Given the description of an element on the screen output the (x, y) to click on. 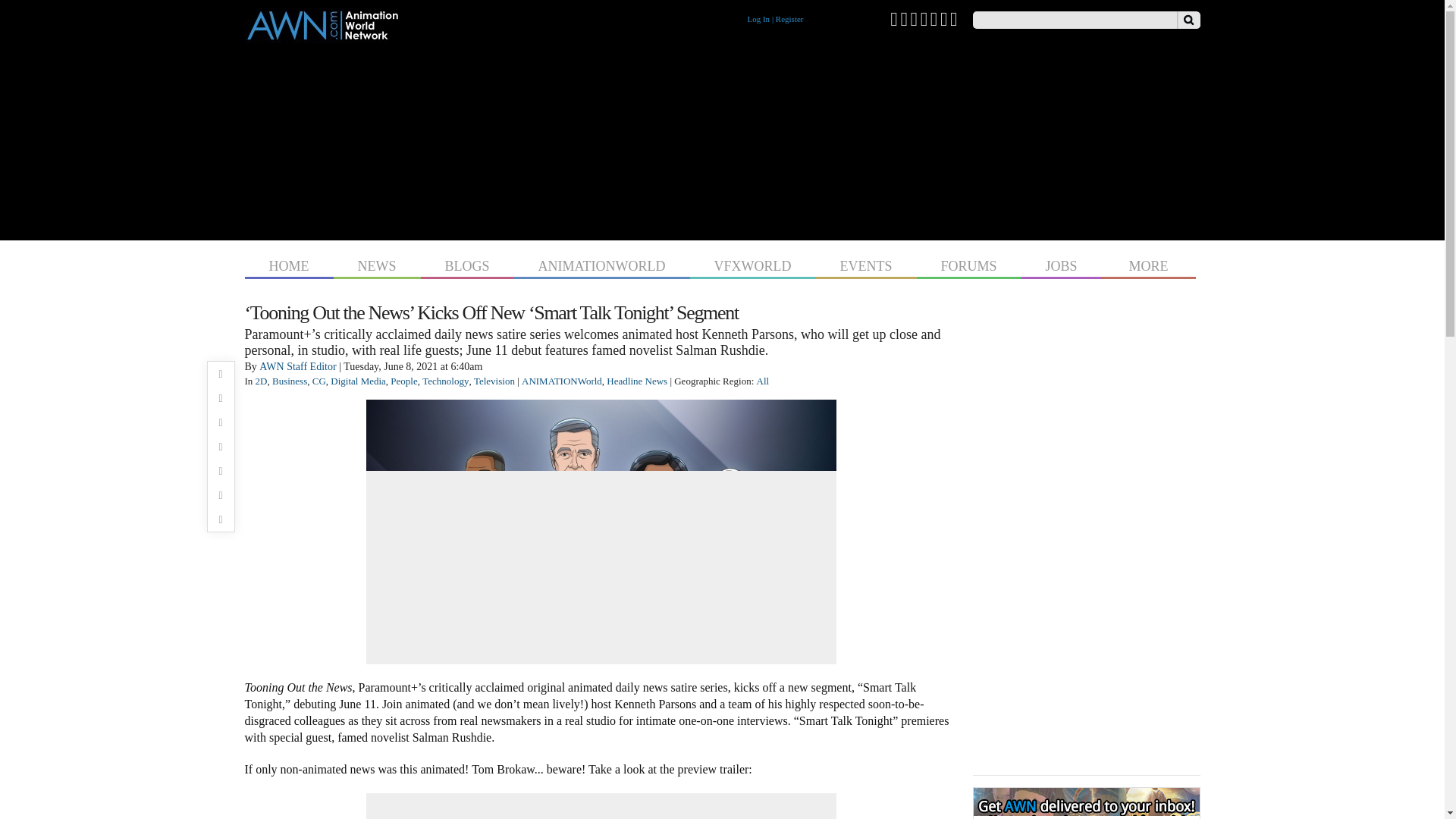
Technology (445, 380)
Log In (758, 18)
CG (319, 380)
JOBS (1062, 263)
Business (289, 380)
Animation World Network (321, 35)
Digital Media (357, 380)
NEWS (376, 263)
FORUMS (967, 263)
BLOGS (466, 263)
